Given the description of an element on the screen output the (x, y) to click on. 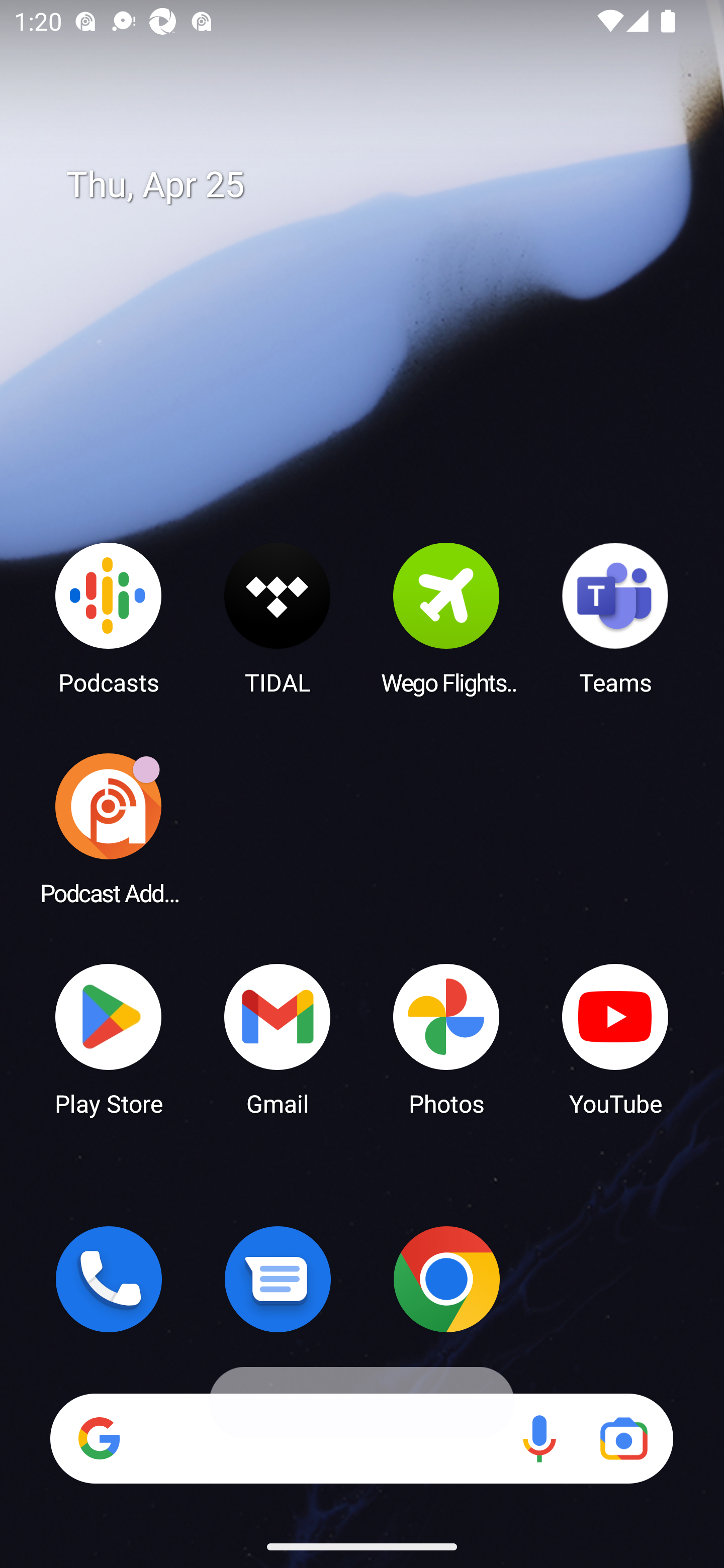
Thu, Apr 25 (375, 184)
Podcasts (108, 617)
TIDAL (277, 617)
Wego Flights & Hotels (445, 617)
Teams (615, 617)
Play Store (108, 1038)
Gmail (277, 1038)
Photos (445, 1038)
YouTube (615, 1038)
Phone (108, 1279)
Messages (277, 1279)
Chrome (446, 1279)
Search Voice search Google Lens (361, 1438)
Voice search (539, 1438)
Google Lens (623, 1438)
